Given the description of an element on the screen output the (x, y) to click on. 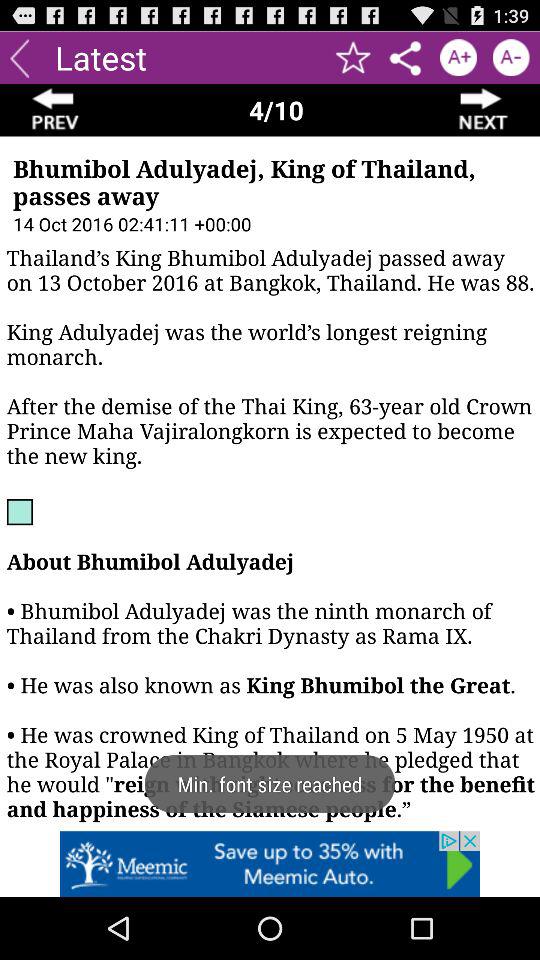
adverdisment link (270, 864)
